Given the description of an element on the screen output the (x, y) to click on. 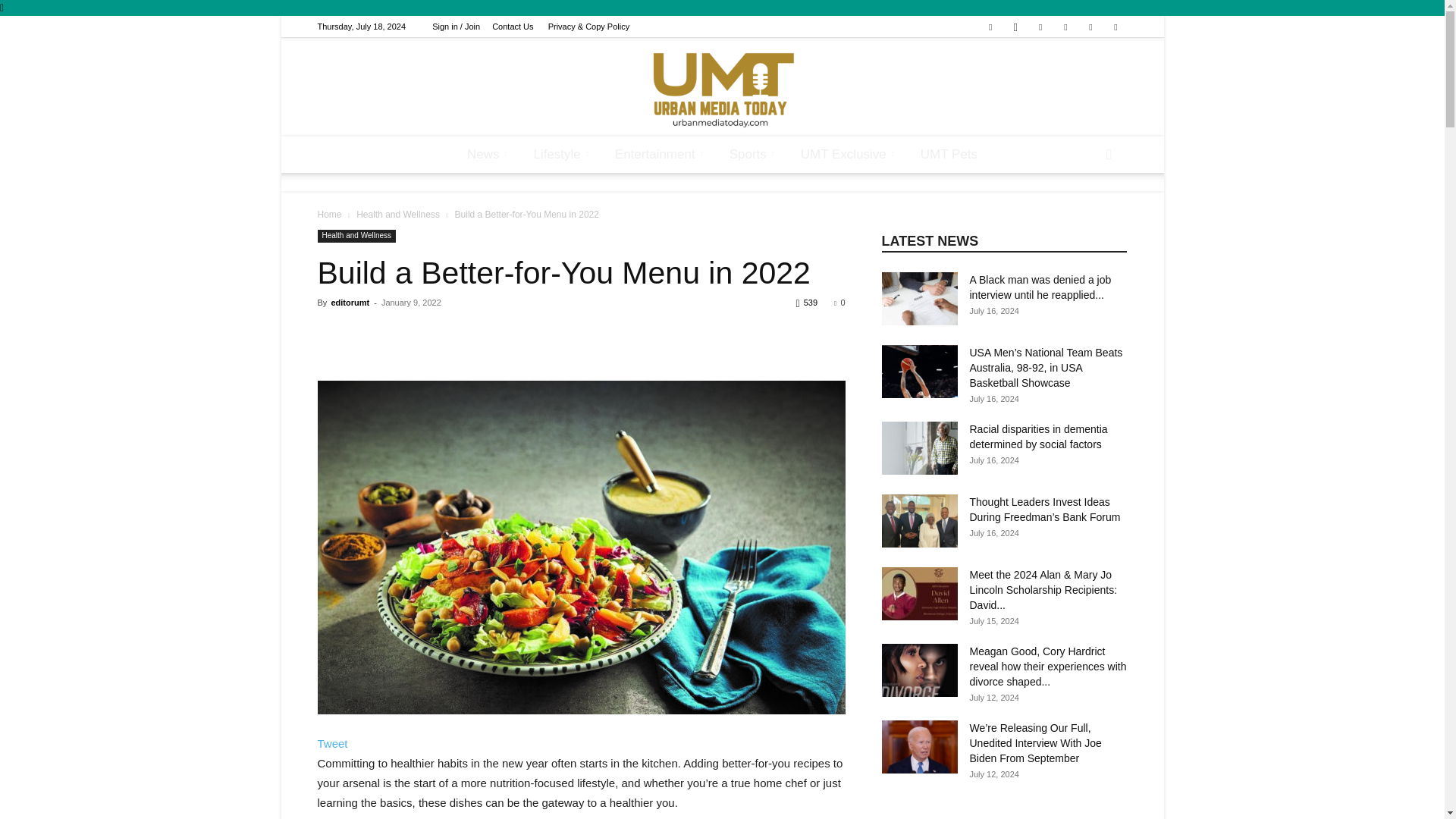
Youtube (1114, 26)
Twitter (1090, 26)
Instagram (1015, 26)
Facebook (989, 26)
News (489, 154)
Steam (1065, 26)
Linkedin (1040, 26)
Contact Us (512, 26)
Urban Media Today (722, 88)
